Given the description of an element on the screen output the (x, y) to click on. 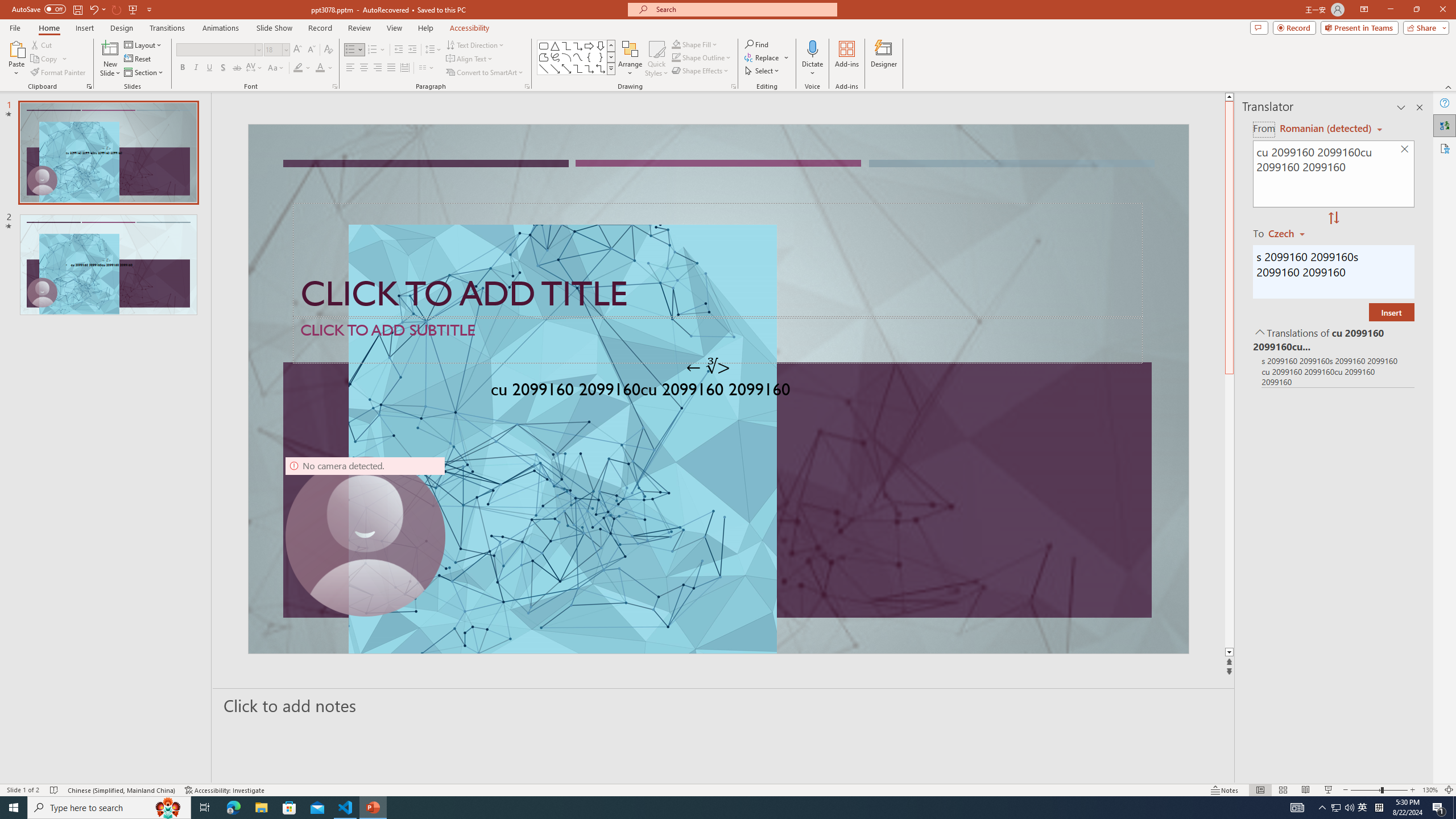
Clear text (1404, 149)
Arrow: Down (600, 45)
Subtitle TextBox (717, 339)
Replace... (762, 56)
AutomationID: ShapesInsertGallery (576, 57)
Curve (577, 57)
